Given the description of an element on the screen output the (x, y) to click on. 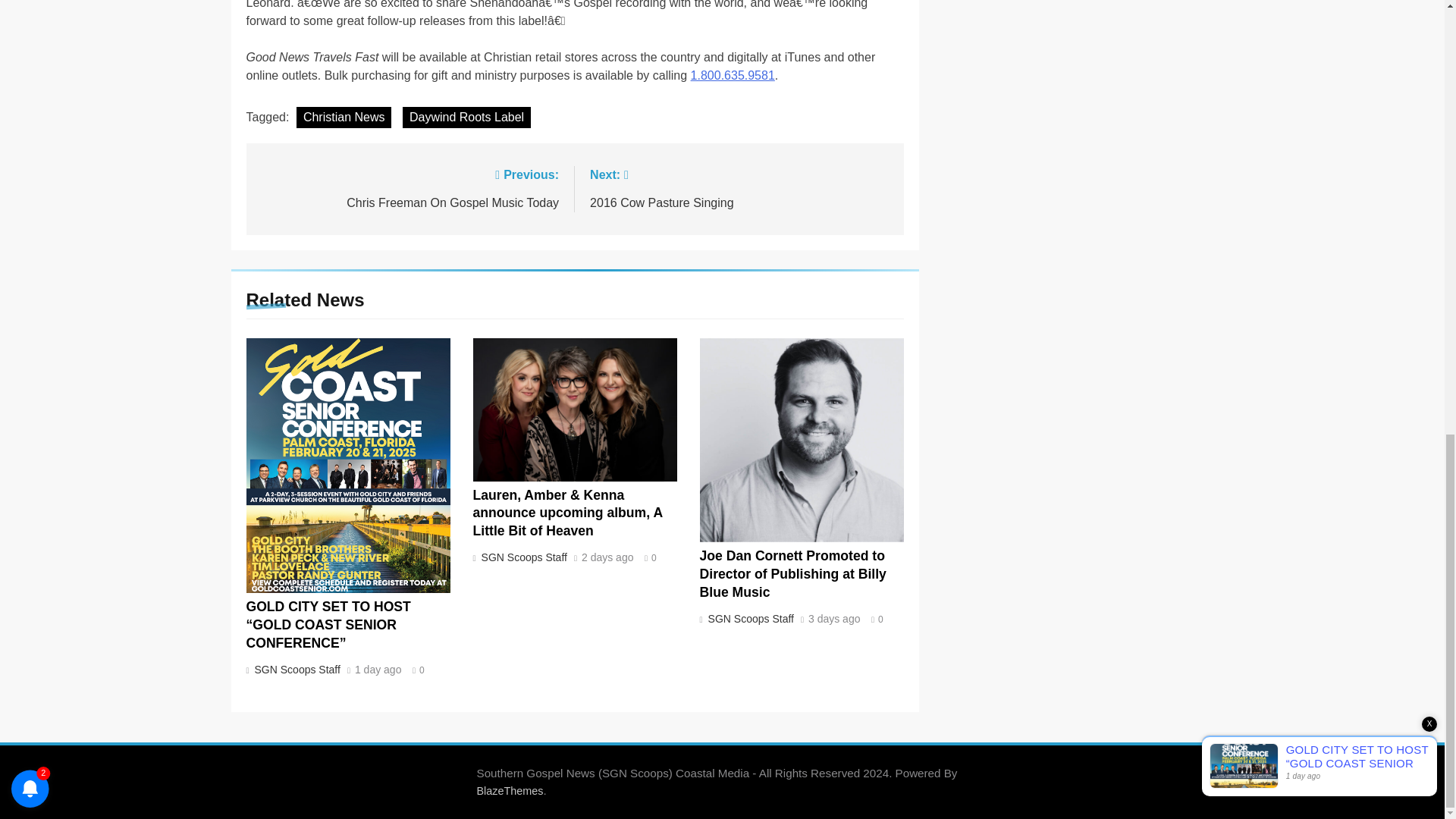
Christian News (344, 117)
1.800.635.9581 (732, 74)
2 days ago (606, 557)
SGN Scoops Staff (409, 187)
1 day ago (749, 618)
BlazeThemes (738, 187)
SGN Scoops Staff (378, 670)
